Given the description of an element on the screen output the (x, y) to click on. 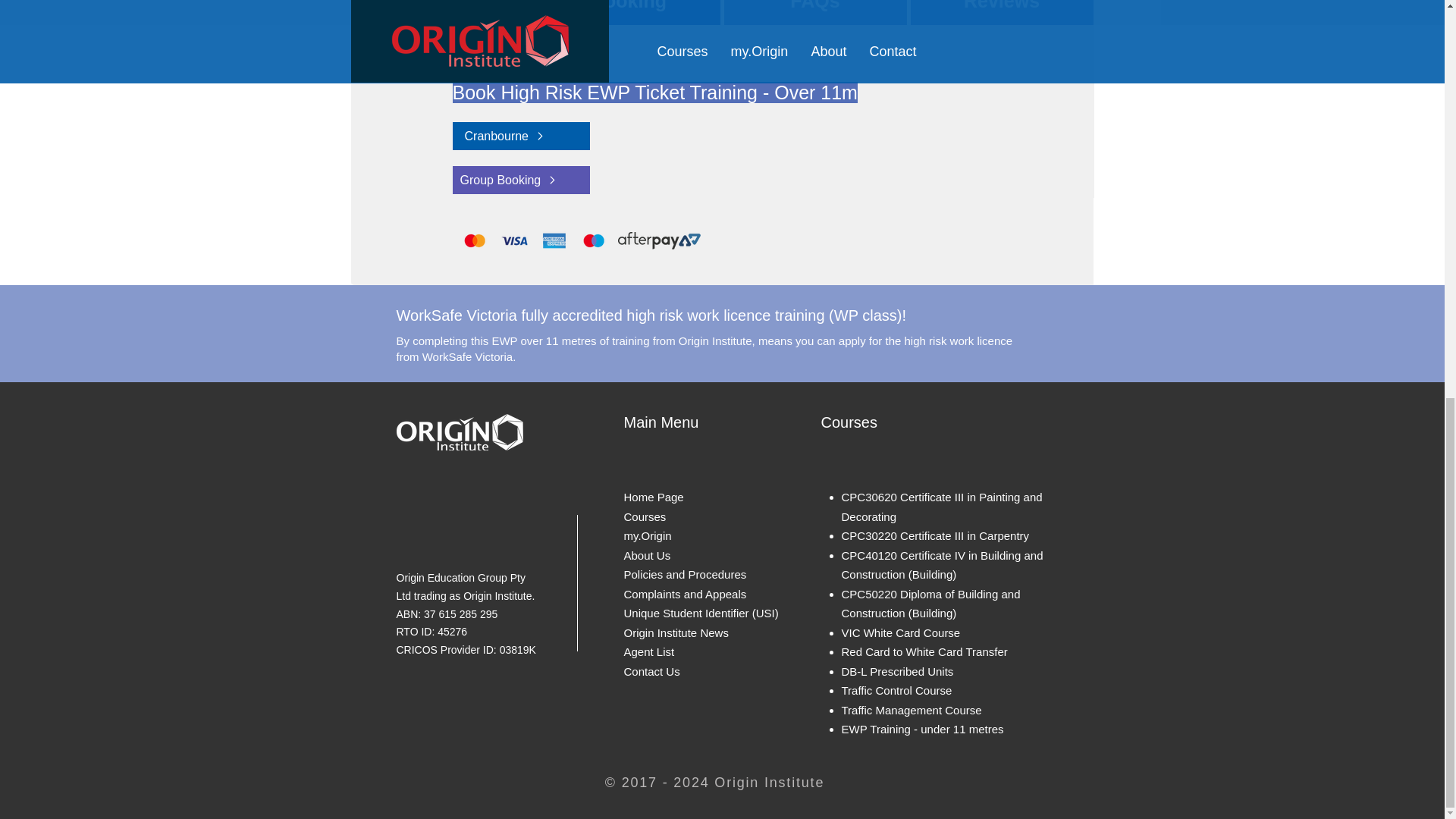
my.Origin (647, 535)
Cranbourne (520, 135)
About Us (646, 554)
Group Booking (520, 180)
CPC30620 Certificate III in Painting and Decorating (941, 506)
Origin Institute News (675, 631)
Home Page (652, 496)
Agent List (648, 651)
Contact Us (651, 671)
Complaints and Appeals (684, 594)
